Given the description of an element on the screen output the (x, y) to click on. 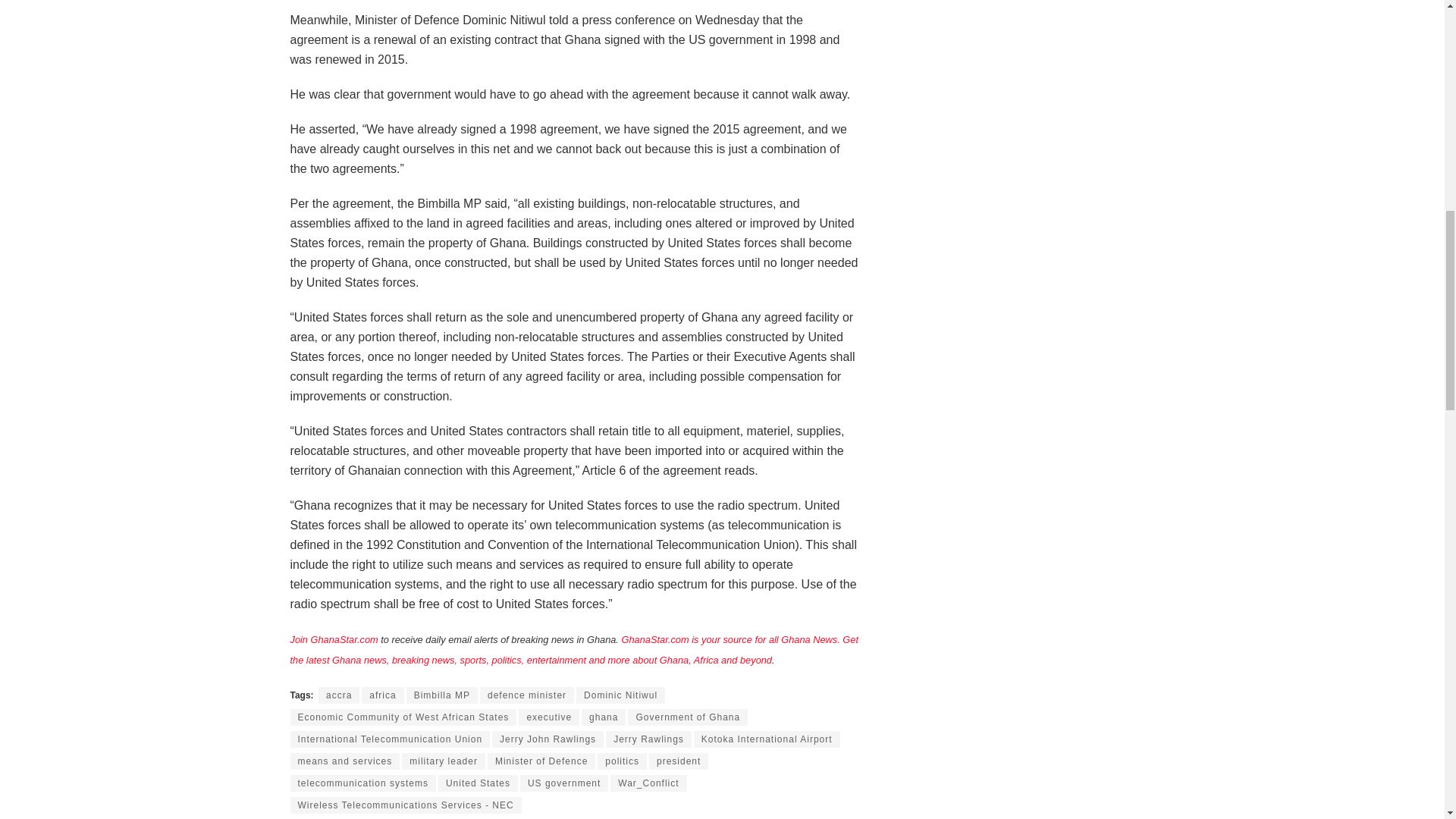
africa (382, 695)
Join GhanaStar.com (333, 639)
accra (338, 695)
